Given the description of an element on the screen output the (x, y) to click on. 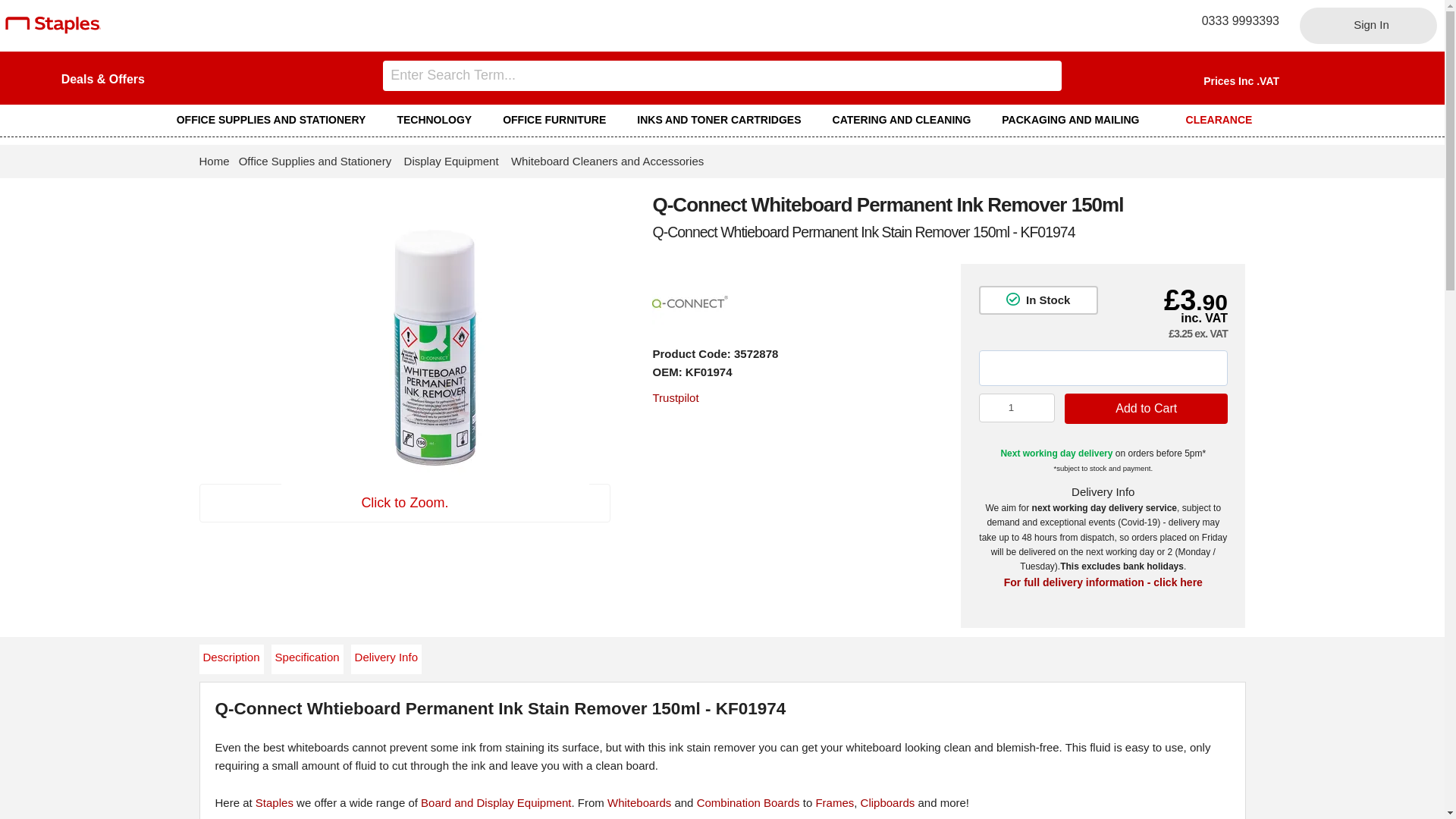
Office Supplies and Stationery Category (277, 119)
Staples.co.uk (53, 30)
OFFICE SUPPLIES AND STATIONERY (277, 119)
Type keyword or product code (721, 75)
1 (1016, 407)
Telephone: 0333 9993393 (1235, 20)
Prices Inc .VAT (1241, 80)
Coupon Corner (102, 78)
 0333 9993393 (1235, 20)
